Given the description of an element on the screen output the (x, y) to click on. 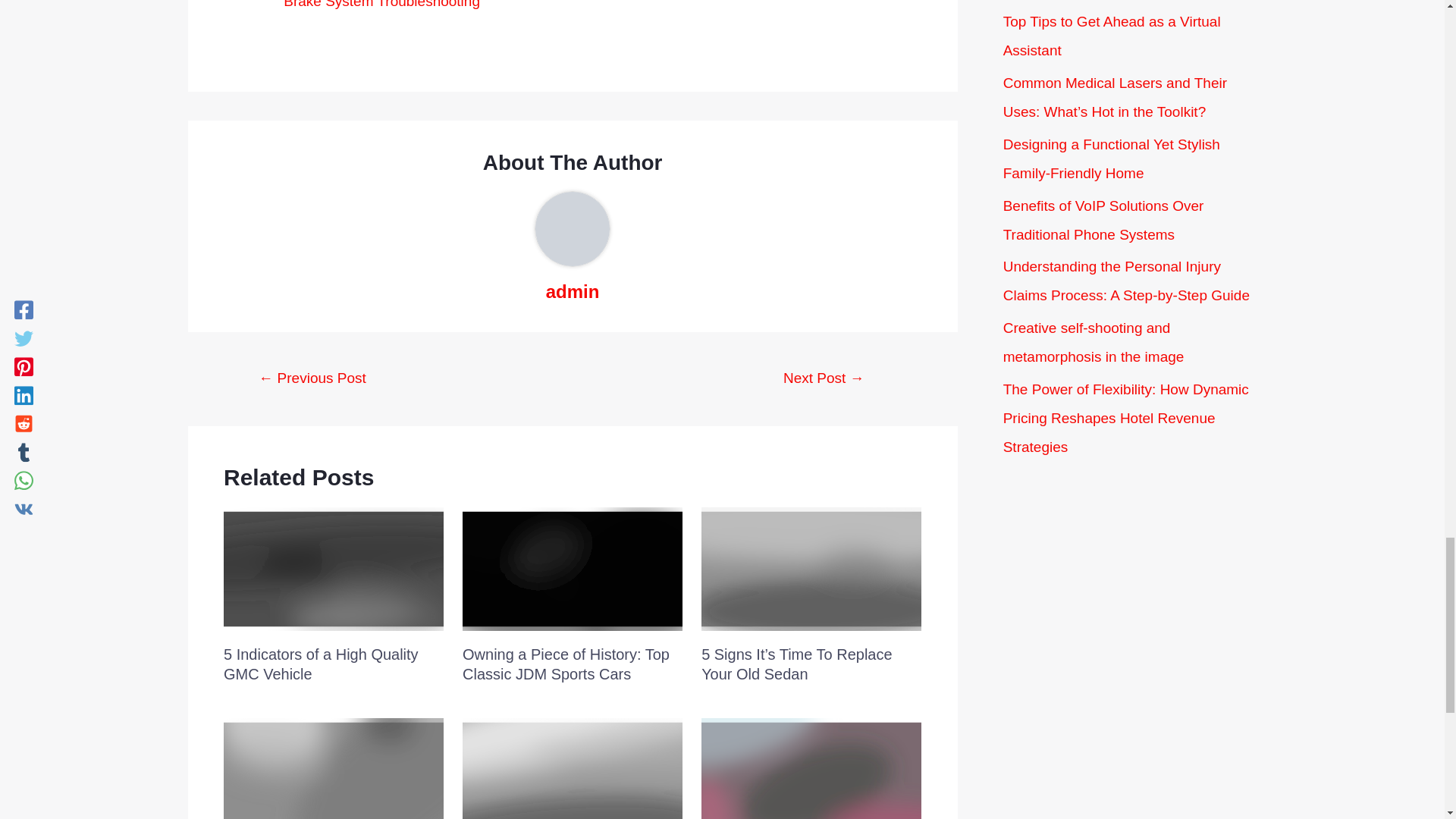
8 Tips for Negotiating at an Auto Dealership (312, 378)
Used Volkswagen SUVs (572, 768)
GMC (334, 568)
JDM (572, 568)
The Role of Evidence in Winning Motorcycle Accident Lawsuits (823, 378)
2024 Honda HR V (334, 768)
Old Sedan (811, 568)
Ford Vehicle (811, 768)
